Given the description of an element on the screen output the (x, y) to click on. 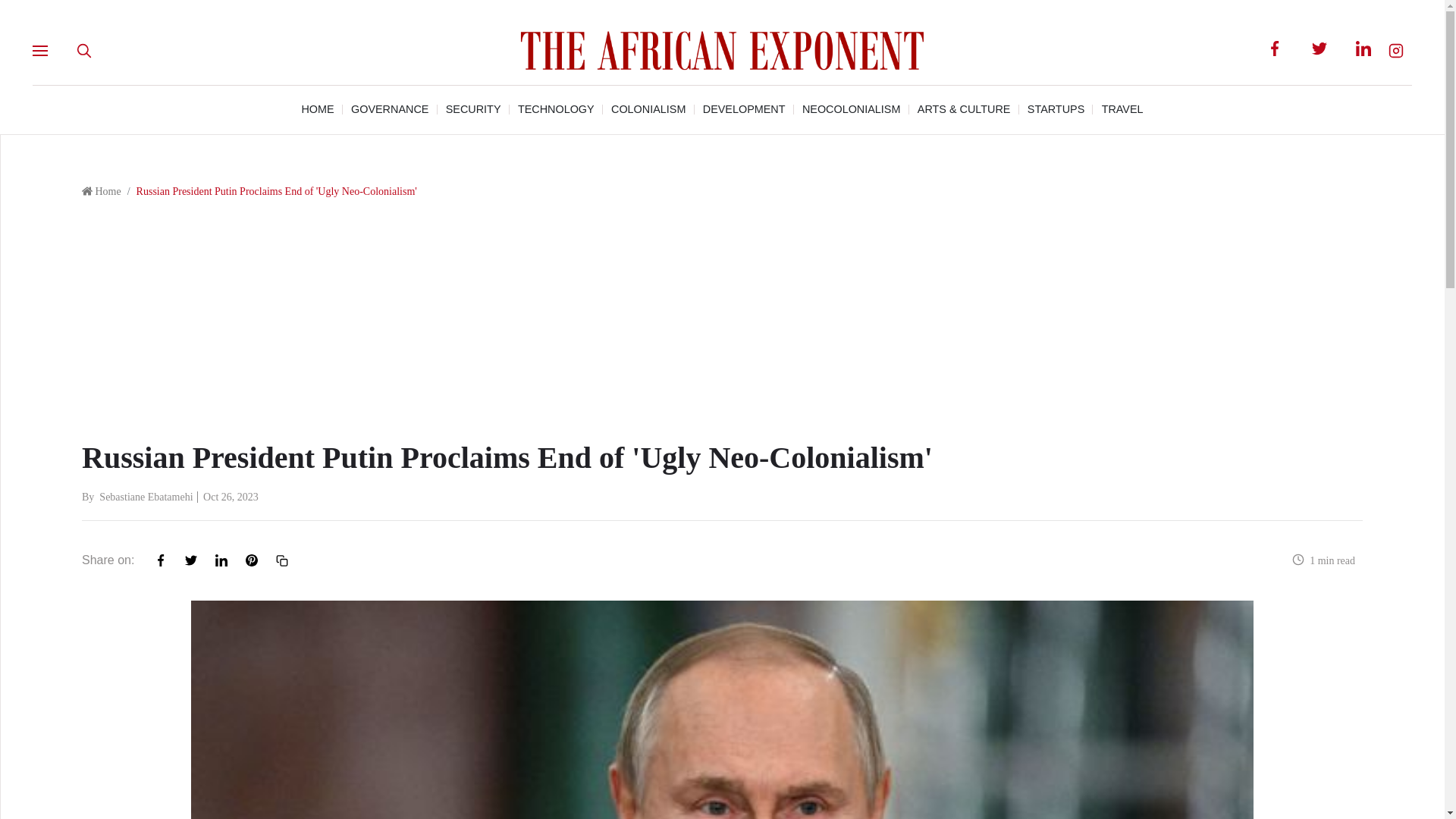
STARTUPS (1055, 109)
GOVERNANCE (389, 109)
DEVELOPMENT (744, 109)
COLONIALISM (648, 109)
TRAVEL (1122, 109)
HOME (317, 109)
Home (106, 191)
Sebastiane Ebatamehi (145, 496)
NEOCOLONIALISM (851, 109)
SECURITY (472, 109)
TECHNOLOGY (556, 109)
